Given the description of an element on the screen output the (x, y) to click on. 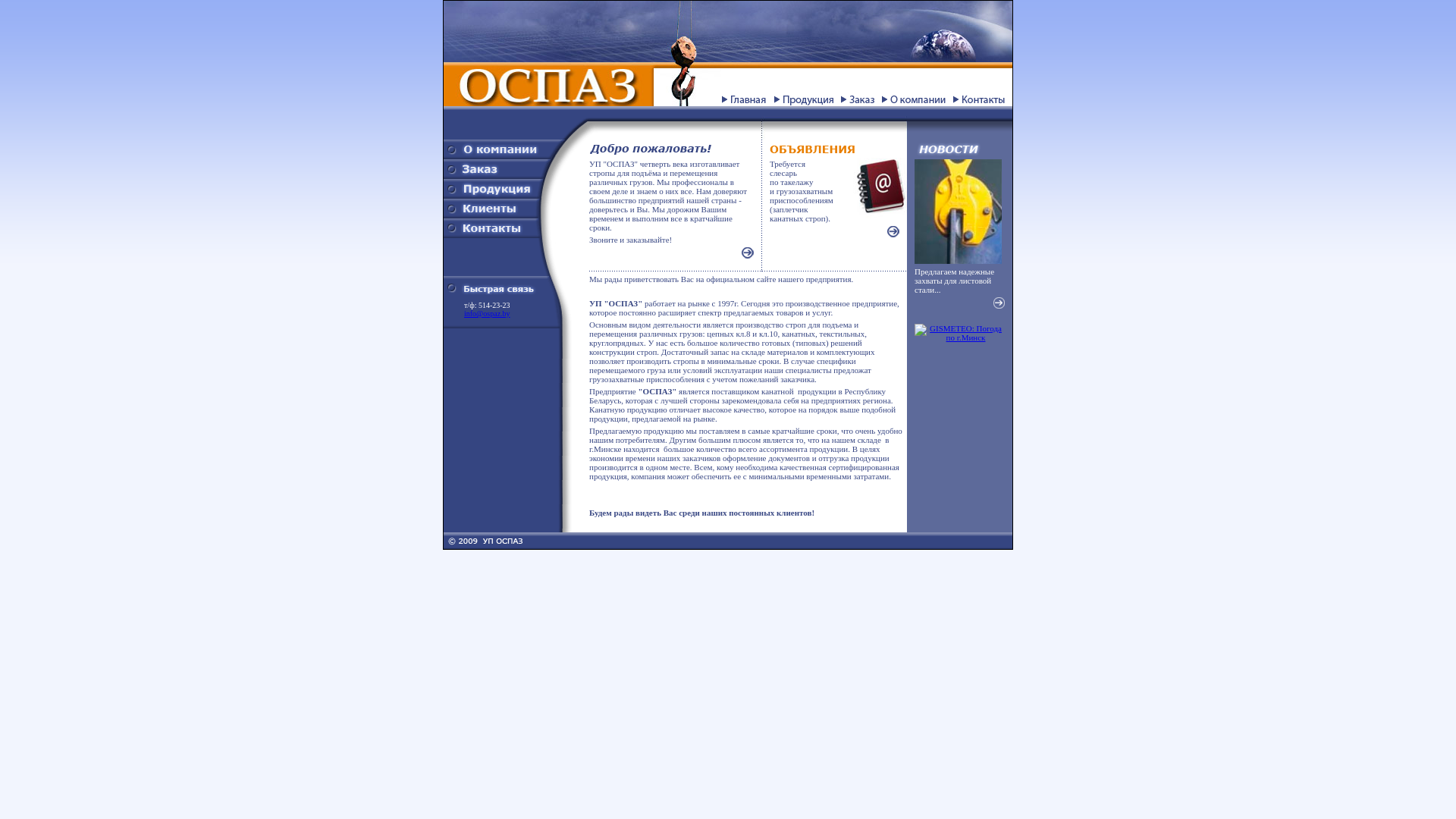
info@ospaz.by Element type: text (487, 313)
